Given the description of an element on the screen output the (x, y) to click on. 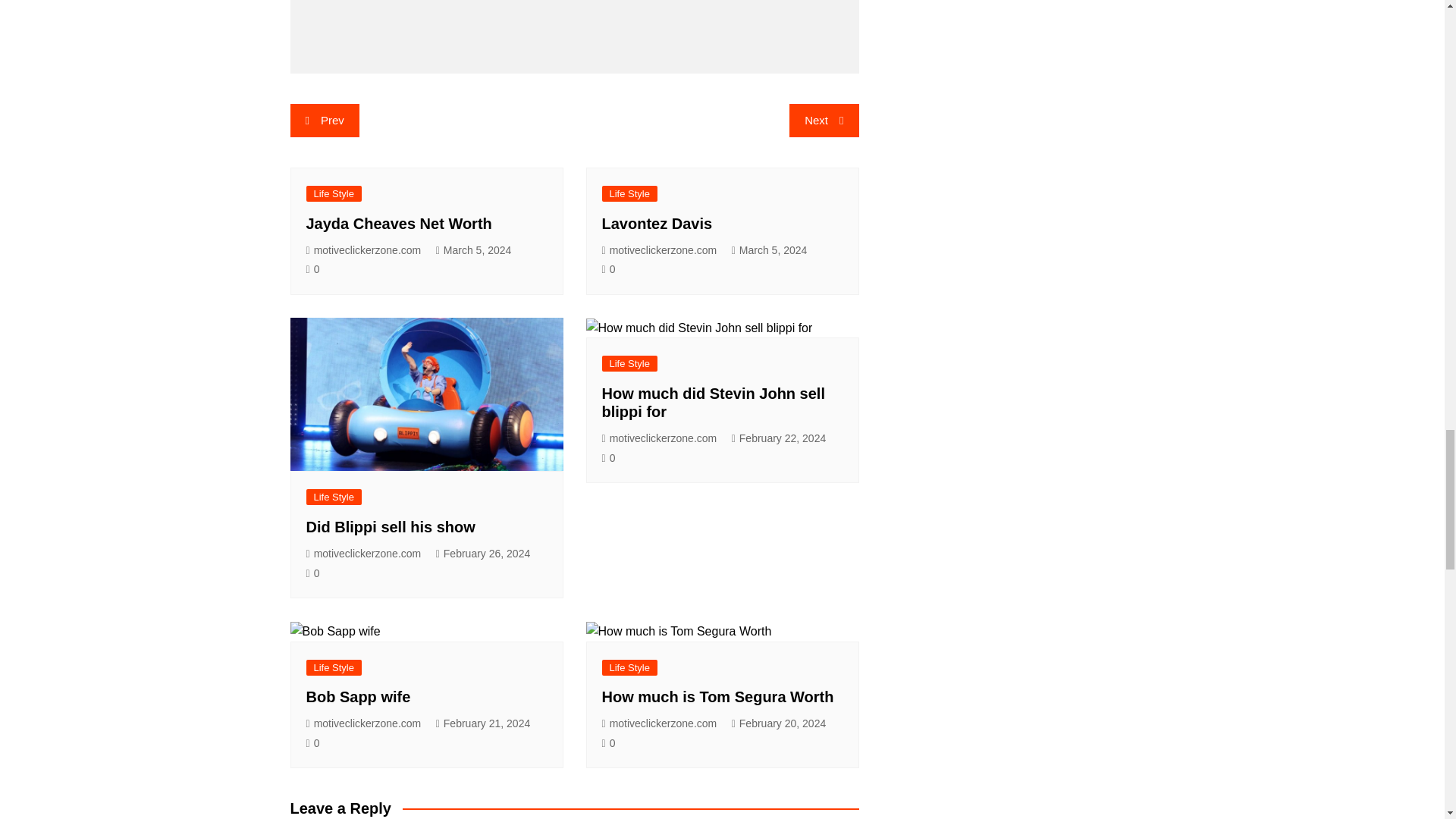
motiveclickerzone.com (659, 250)
Next (824, 120)
Prev (323, 120)
Lavontez Davis (657, 223)
Life Style (333, 193)
March 5, 2024 (770, 250)
Life Style (630, 193)
motiveclickerzone.com (363, 250)
Jayda Cheaves Net Worth (398, 223)
March 5, 2024 (473, 250)
